Given the description of an element on the screen output the (x, y) to click on. 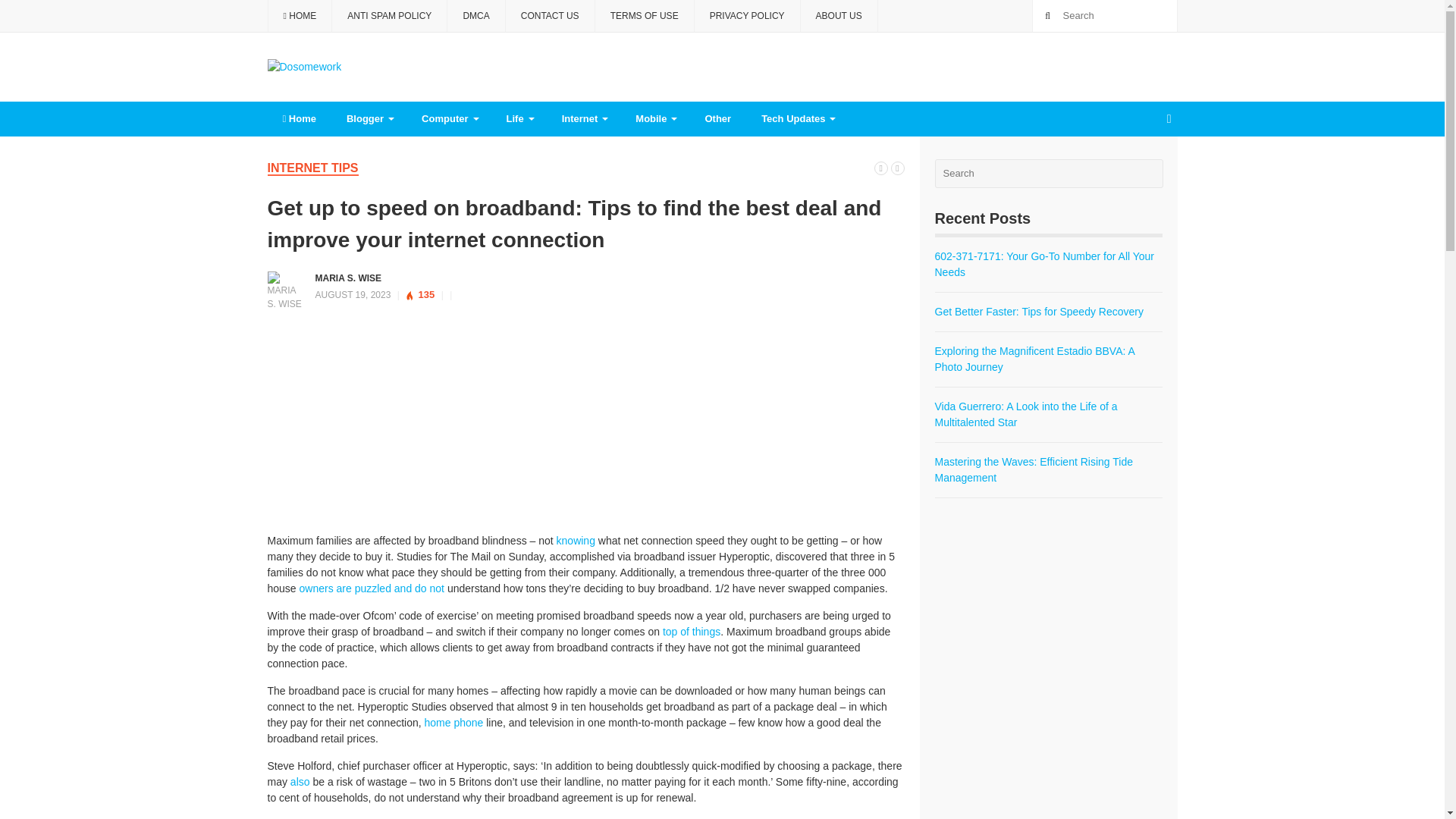
Home (298, 118)
Life (519, 118)
HOME (298, 15)
DMCA (475, 15)
ANTI SPAM POLICY (388, 15)
Internet (584, 118)
Computer (448, 118)
PRIVACY POLICY (747, 15)
Blogger (368, 118)
CONTACT US (550, 15)
